Given the description of an element on the screen output the (x, y) to click on. 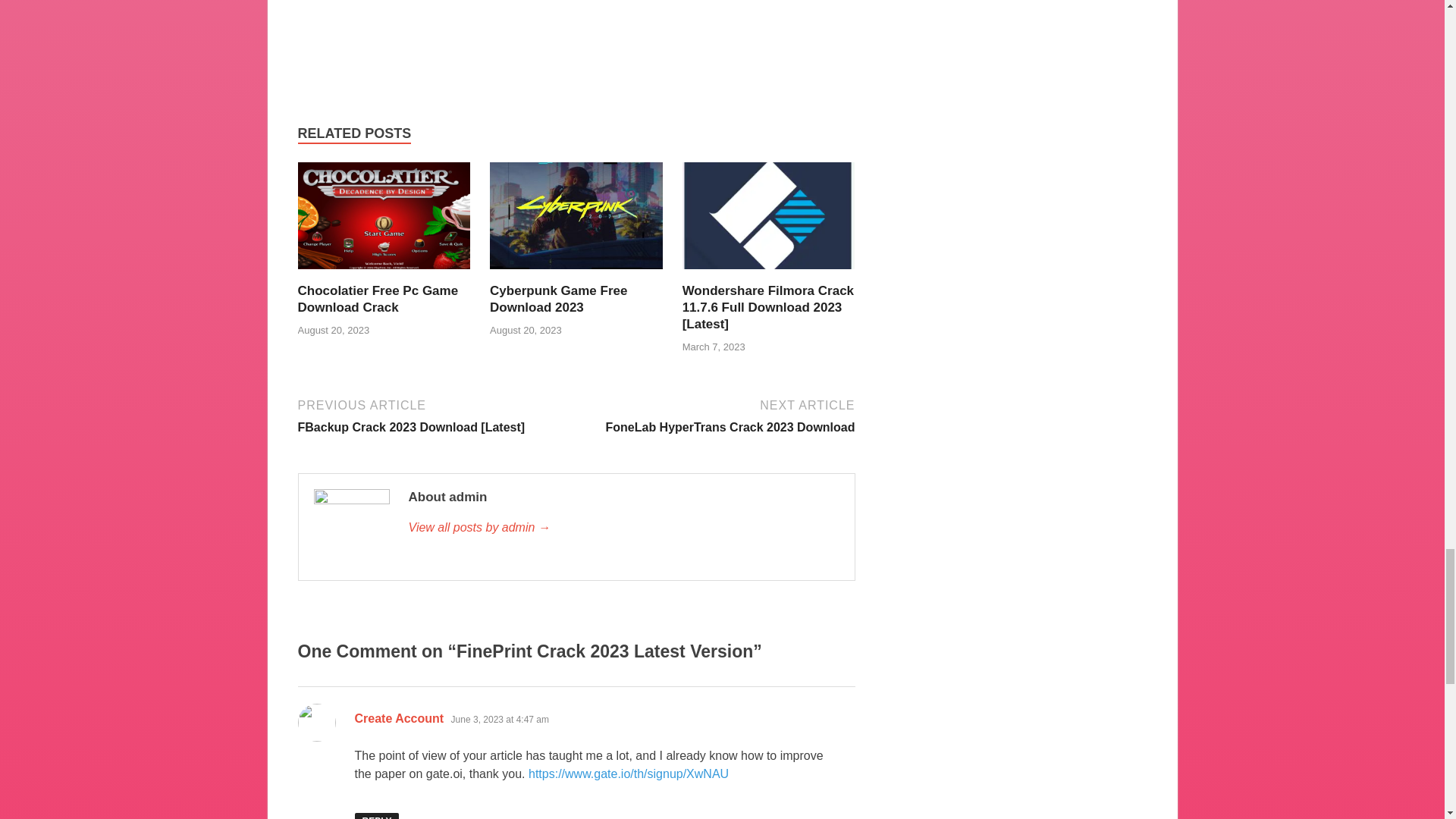
Cyberpunk Game Free Download 2023 (575, 273)
Cyberpunk Game Free Download 2023 (717, 415)
Chocolatier Free Pc Game Download Crack (558, 298)
Chocolatier Free Pc Game Download Crack (377, 298)
admin (377, 298)
Create Account (622, 527)
Cyberpunk Game Free Download 2023 (399, 717)
Chocolatier Free Pc Game Download Crack (558, 298)
